Given the description of an element on the screen output the (x, y) to click on. 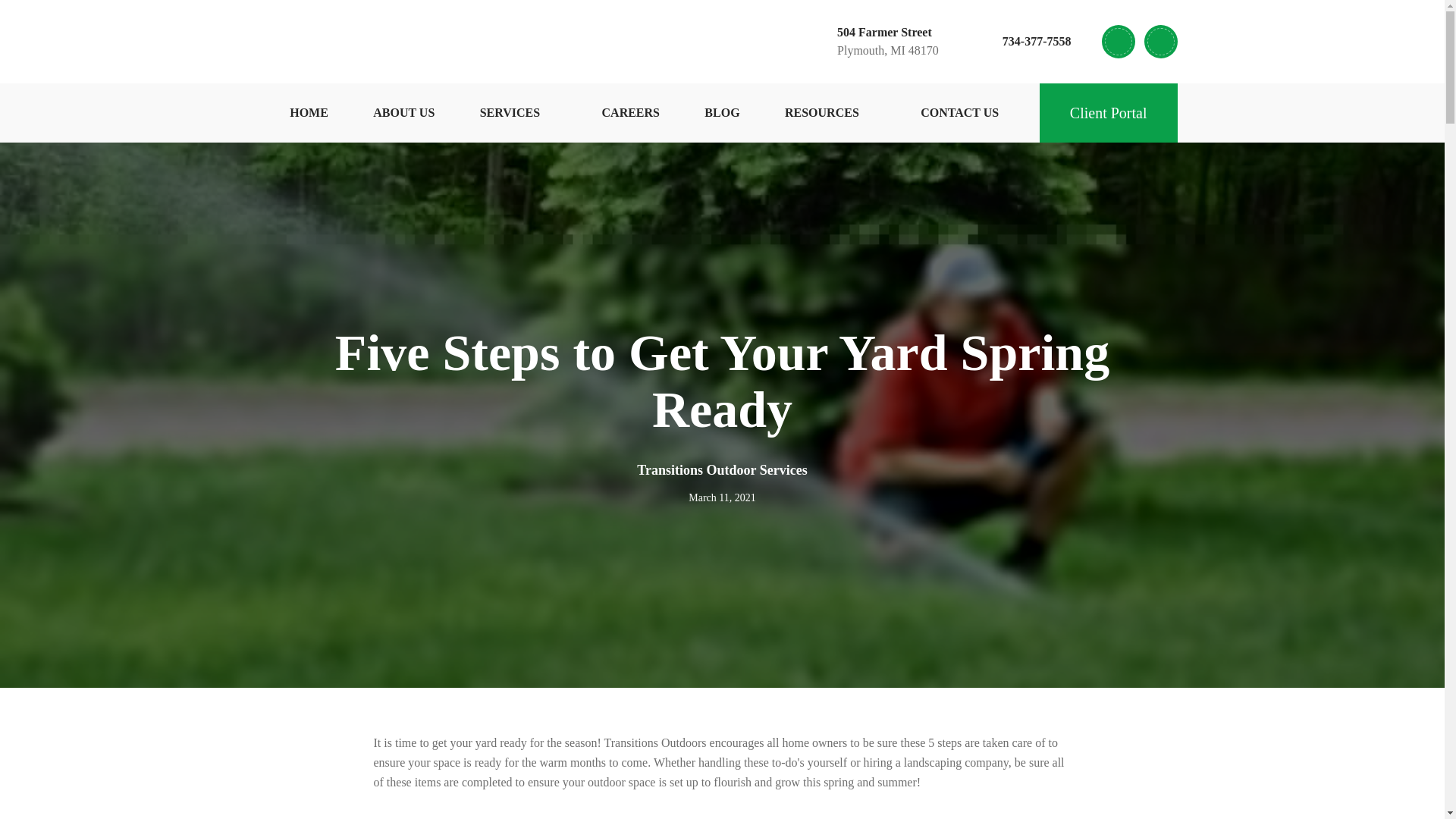
734-377-7558 (1020, 41)
HOME (309, 112)
CAREERS (630, 112)
ABOUT US (871, 41)
SERVICES (402, 112)
RESOURCES (518, 113)
CONTACT US (830, 113)
BLOG (959, 112)
Client Portal (721, 112)
